Given the description of an element on the screen output the (x, y) to click on. 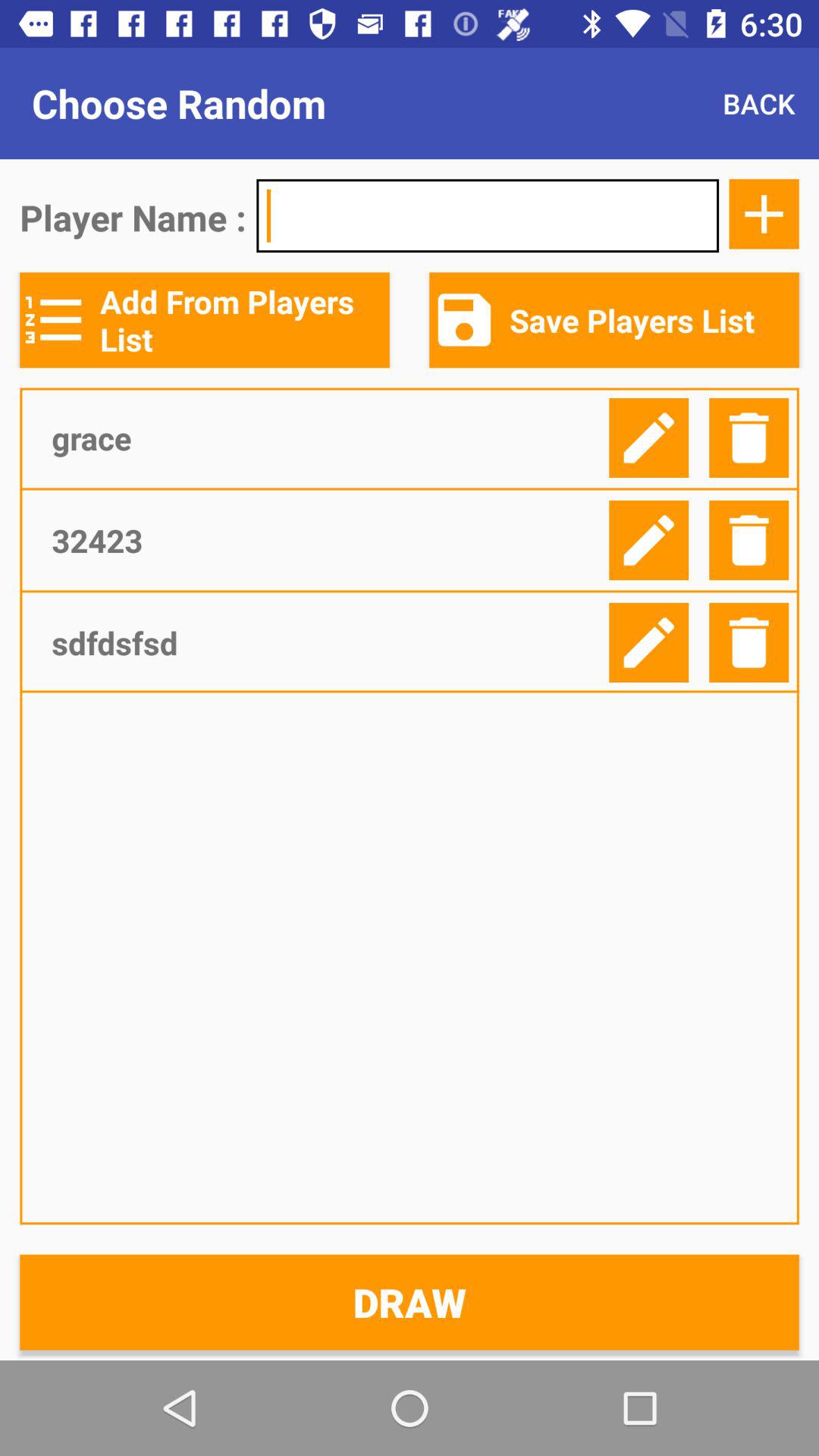
press icon below the 32423 item (324, 642)
